Given the description of an element on the screen output the (x, y) to click on. 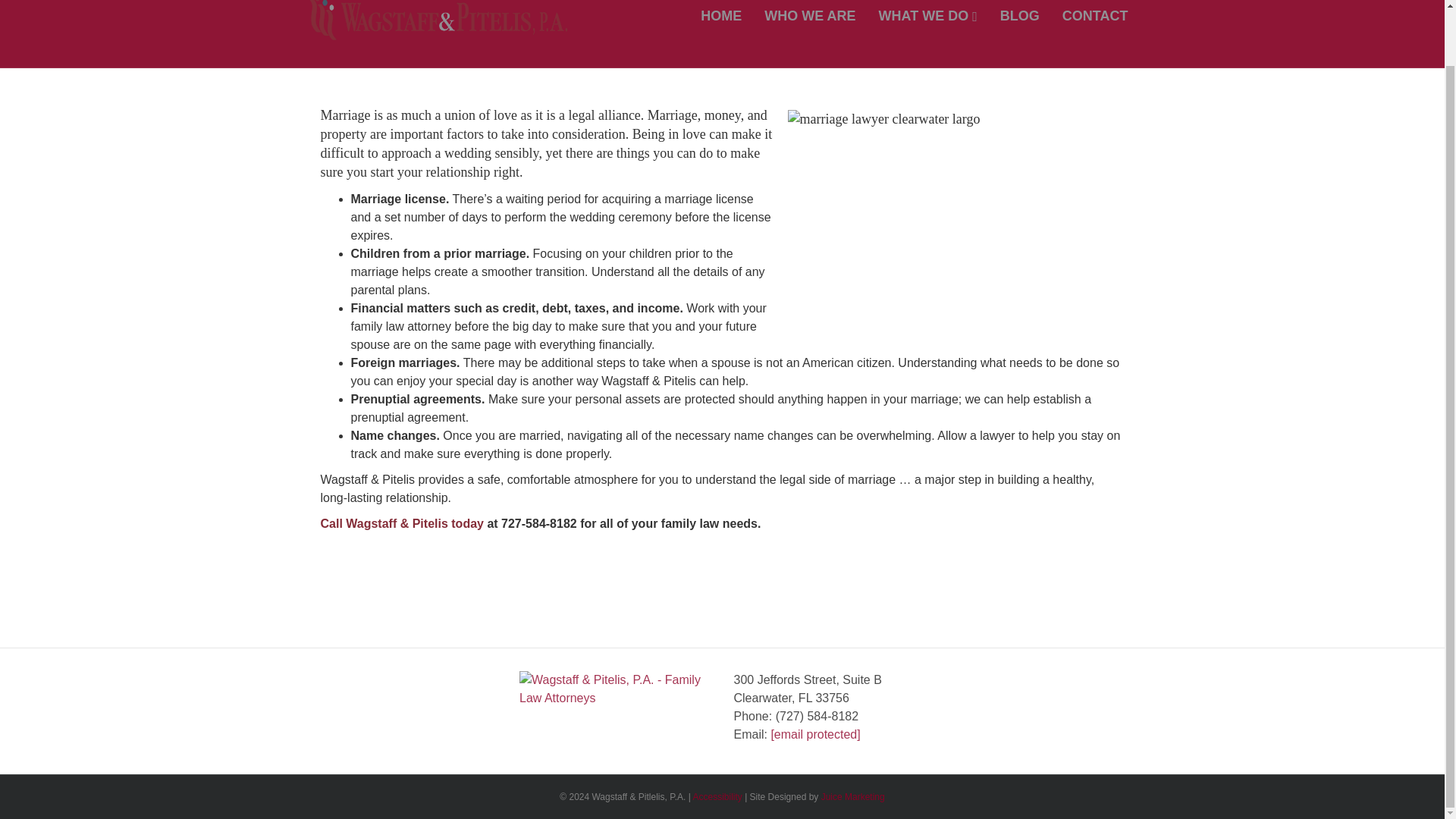
Juice Marketing (853, 796)
HOME (720, 18)
Accessibility (717, 796)
BLOG (1019, 18)
CONTACT (1095, 18)
WHO WE ARE (809, 18)
WHAT WE DO (927, 18)
